Given the description of an element on the screen output the (x, y) to click on. 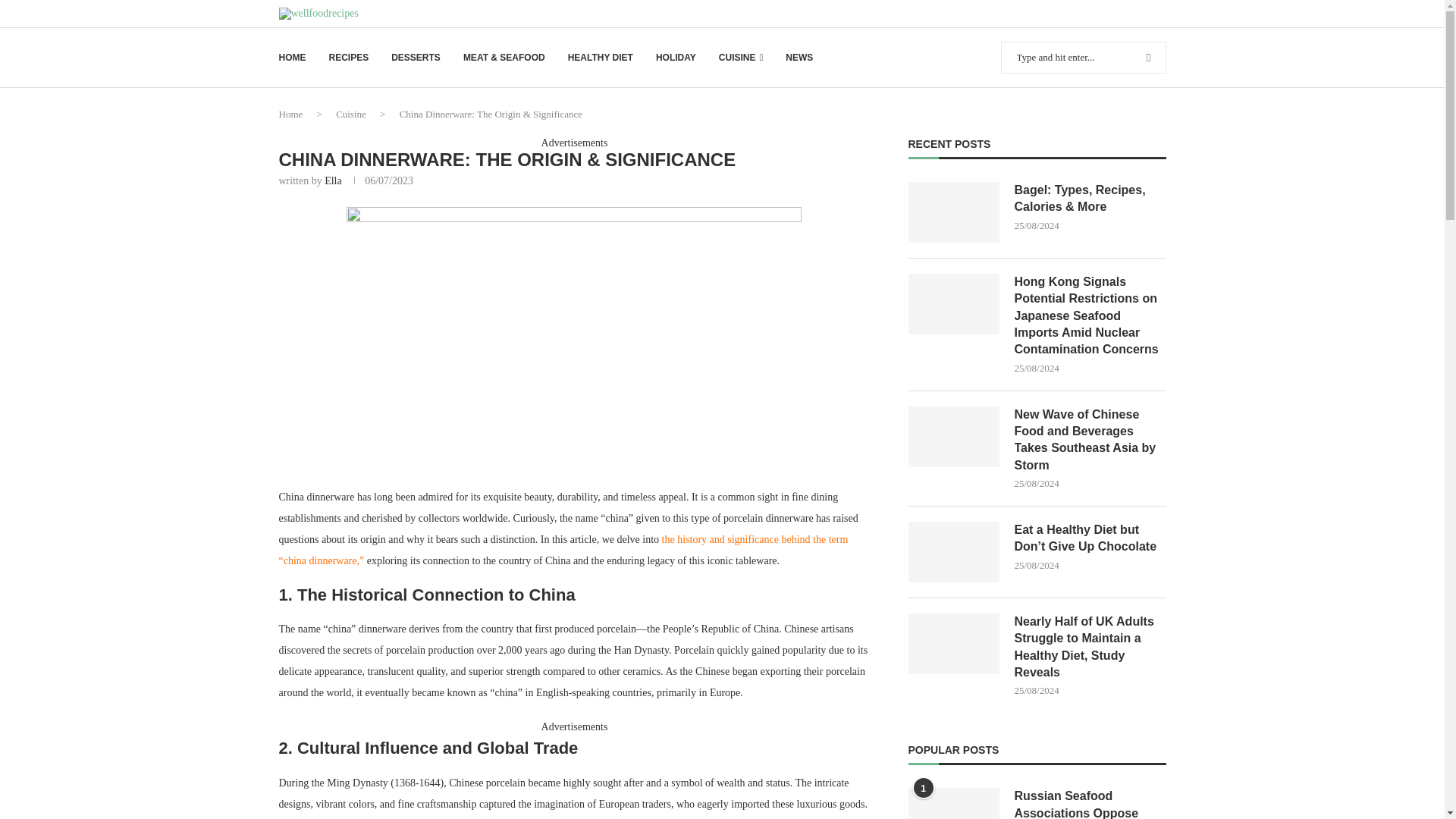
DESSERTS (416, 57)
china dinnerware (574, 336)
CUISINE (740, 57)
RECIPES (349, 57)
HOLIDAY (675, 57)
HEALTHY DIET (600, 57)
